Given the description of an element on the screen output the (x, y) to click on. 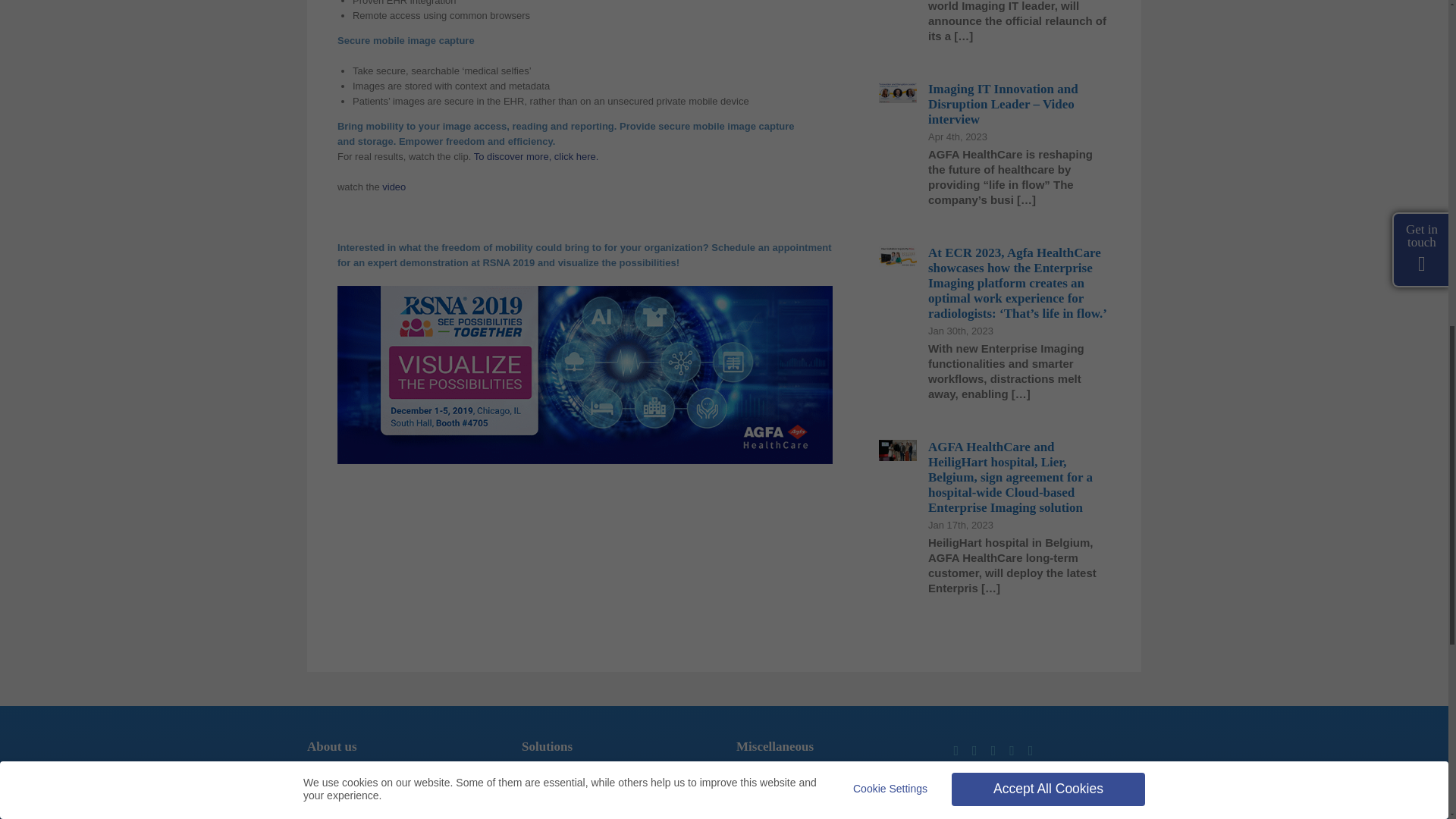
YouTube (1012, 750)
LinkedIn (955, 750)
Blog (1031, 750)
Twitter (974, 750)
Instagram (993, 750)
